Given the description of an element on the screen output the (x, y) to click on. 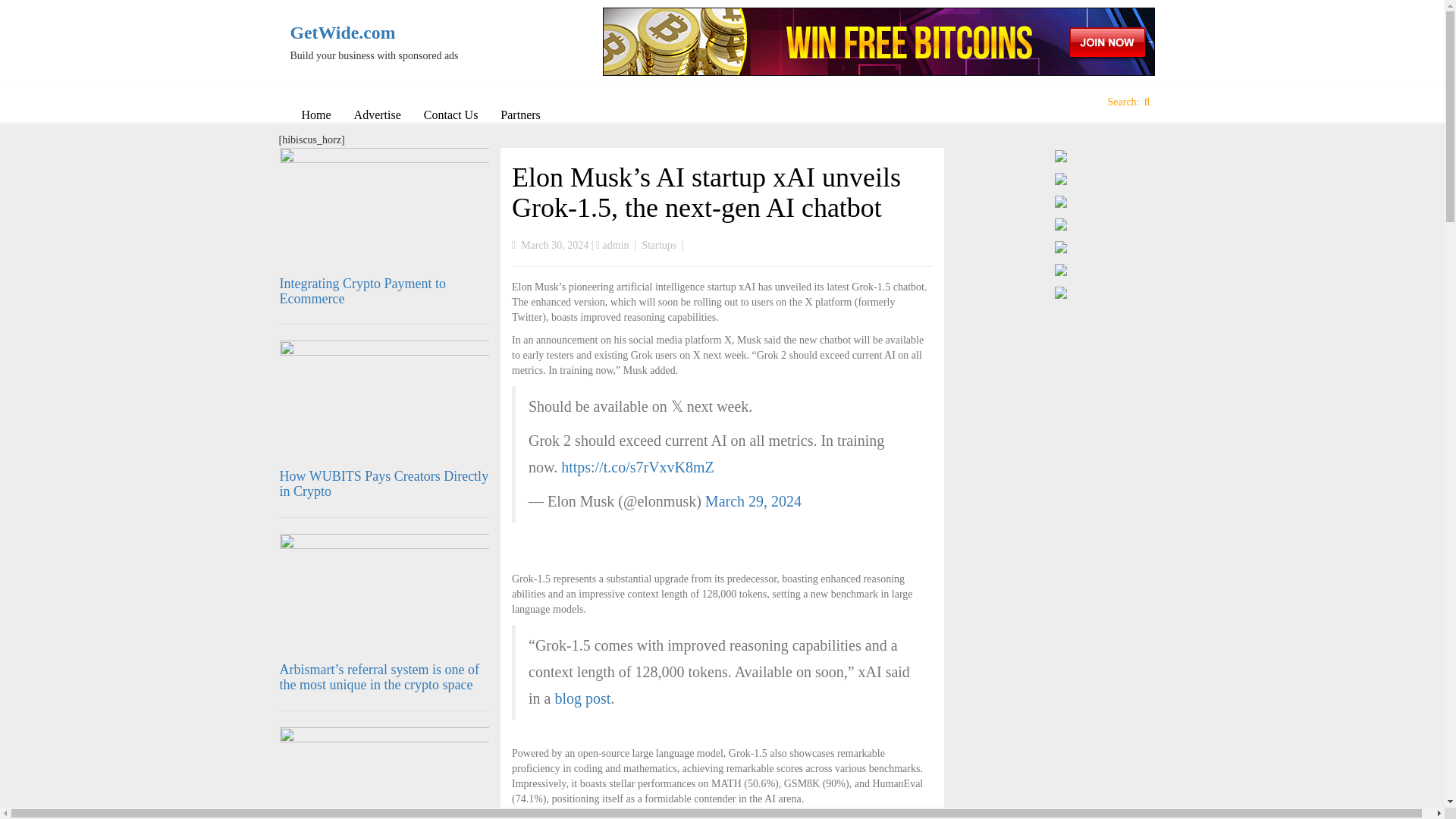
GetWide.com (389, 32)
Advertise (377, 115)
Partners (520, 115)
Integrating Crypto Payment to Ecommerce (362, 291)
Home (315, 115)
How WUBITS Pays Creators Directly in Crypto (383, 483)
Posts by admin (615, 244)
Contact Us (450, 115)
